Given the description of an element on the screen output the (x, y) to click on. 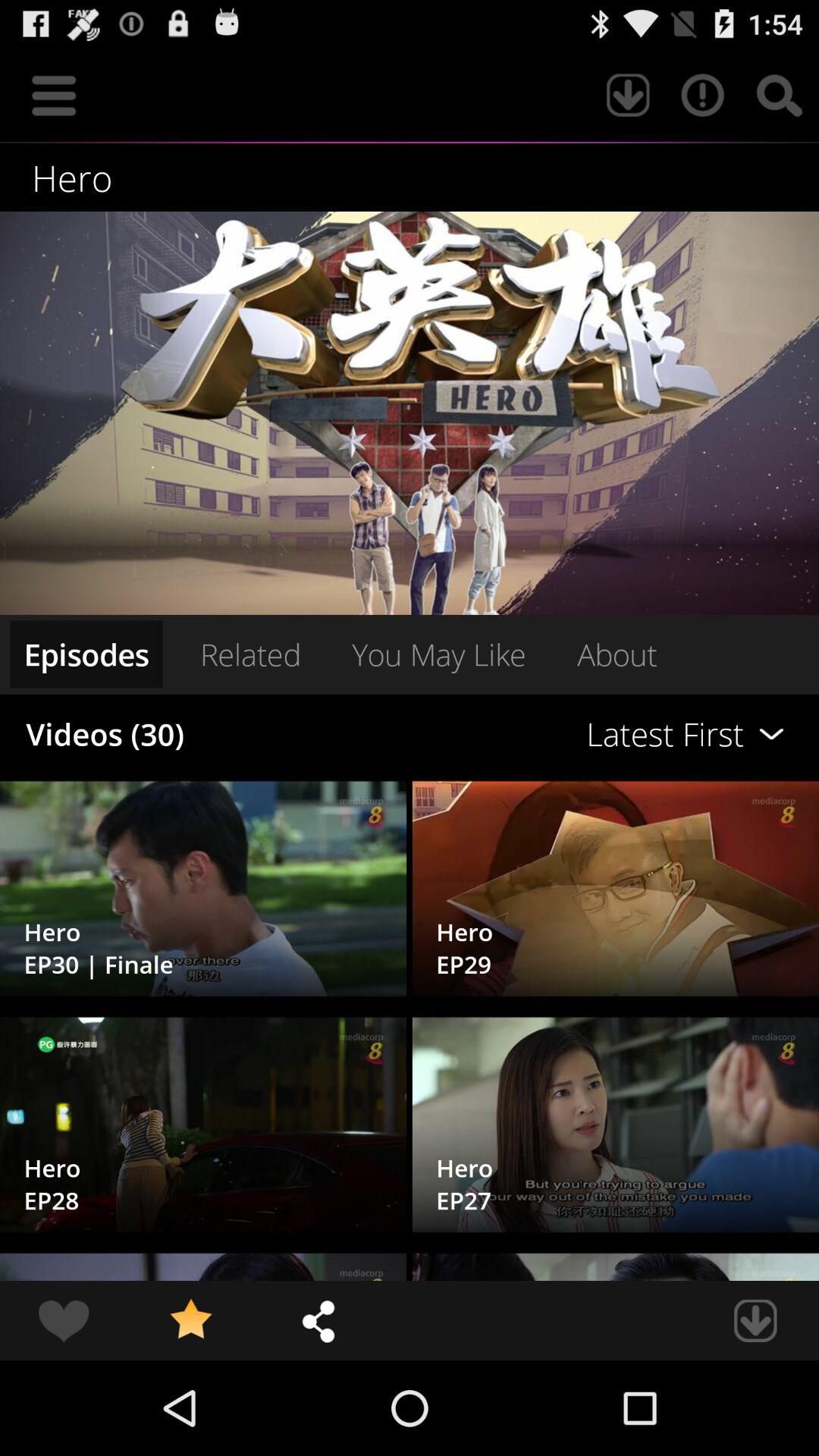
open the item to the right of the you may like item (616, 654)
